Given the description of an element on the screen output the (x, y) to click on. 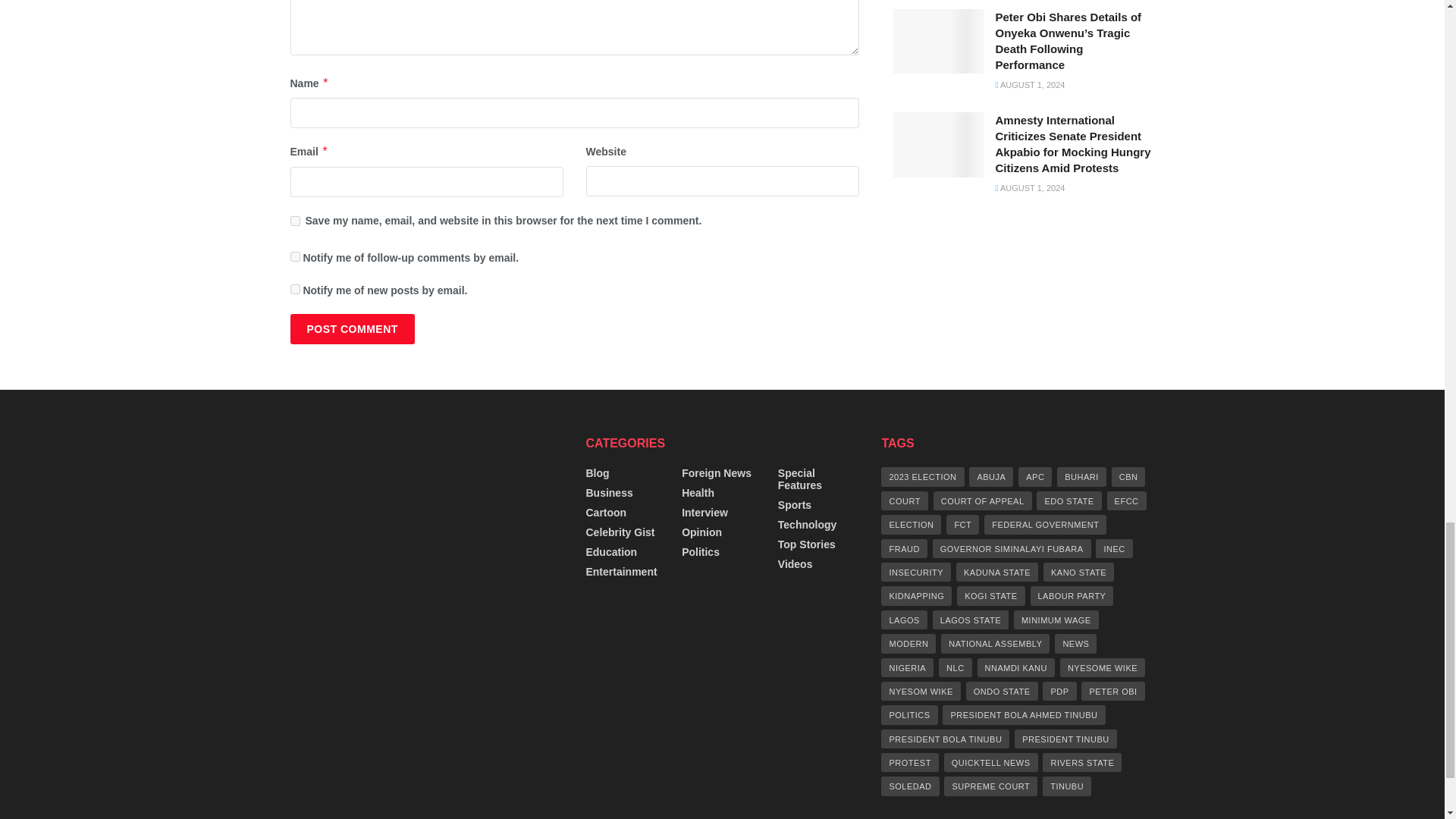
Post Comment (351, 328)
subscribe (294, 289)
yes (294, 221)
subscribe (294, 256)
